Given the description of an element on the screen output the (x, y) to click on. 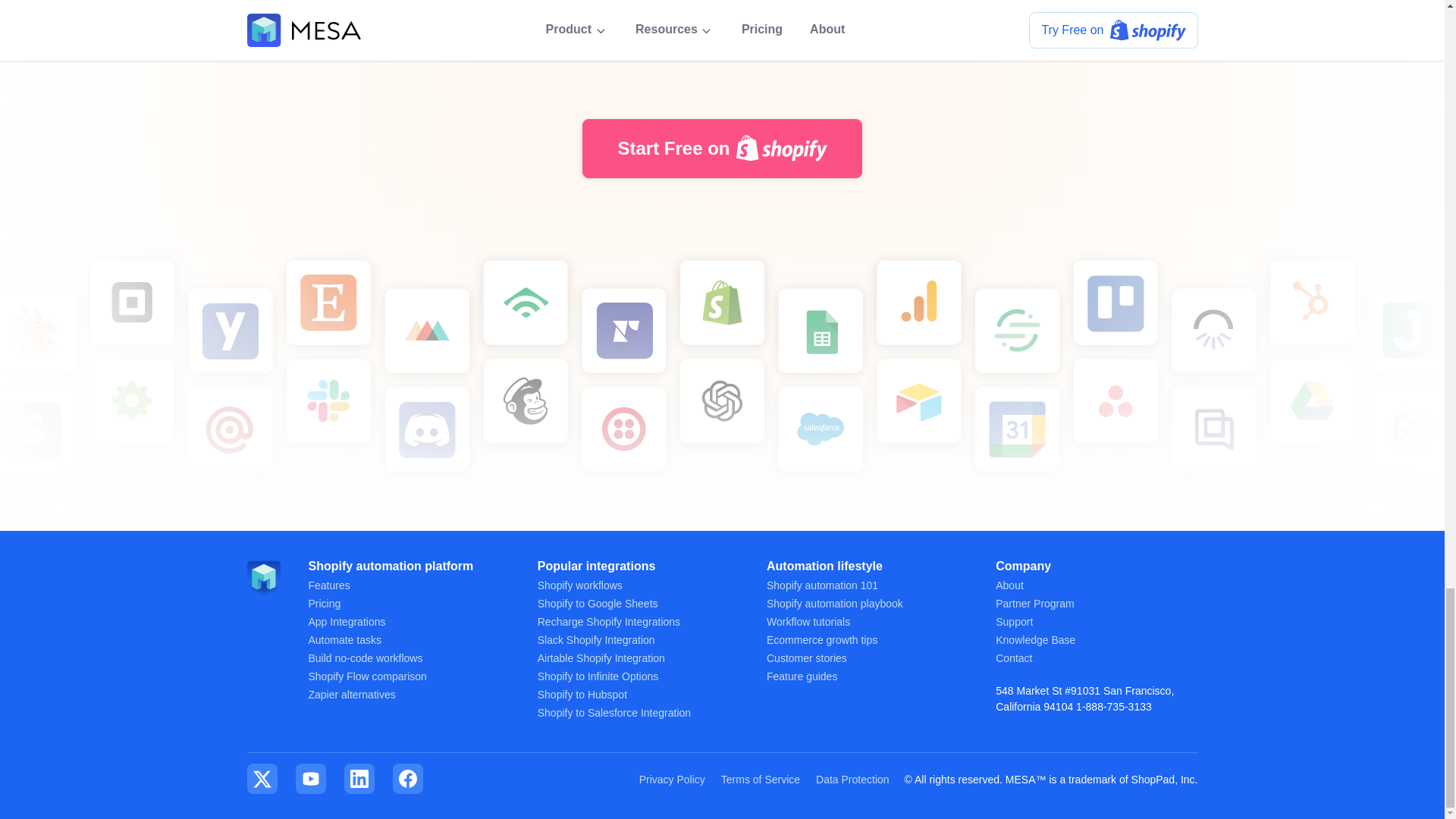
Shopify to Infinite Options (598, 676)
Pricing (323, 603)
Shopify to Hubspot (582, 694)
Shopify automation 101 (822, 585)
Shopify automation playbook (834, 603)
App Integrations (346, 621)
About (1009, 585)
Shopify Flow comparison (366, 676)
Airtable Shopify Integration (601, 657)
Shopify to Salesforce Integration (613, 712)
Automate tasks (344, 639)
Features (328, 585)
Build no-code workflows (364, 657)
Shopify workflows (580, 585)
Feature guides (802, 676)
